Given the description of an element on the screen output the (x, y) to click on. 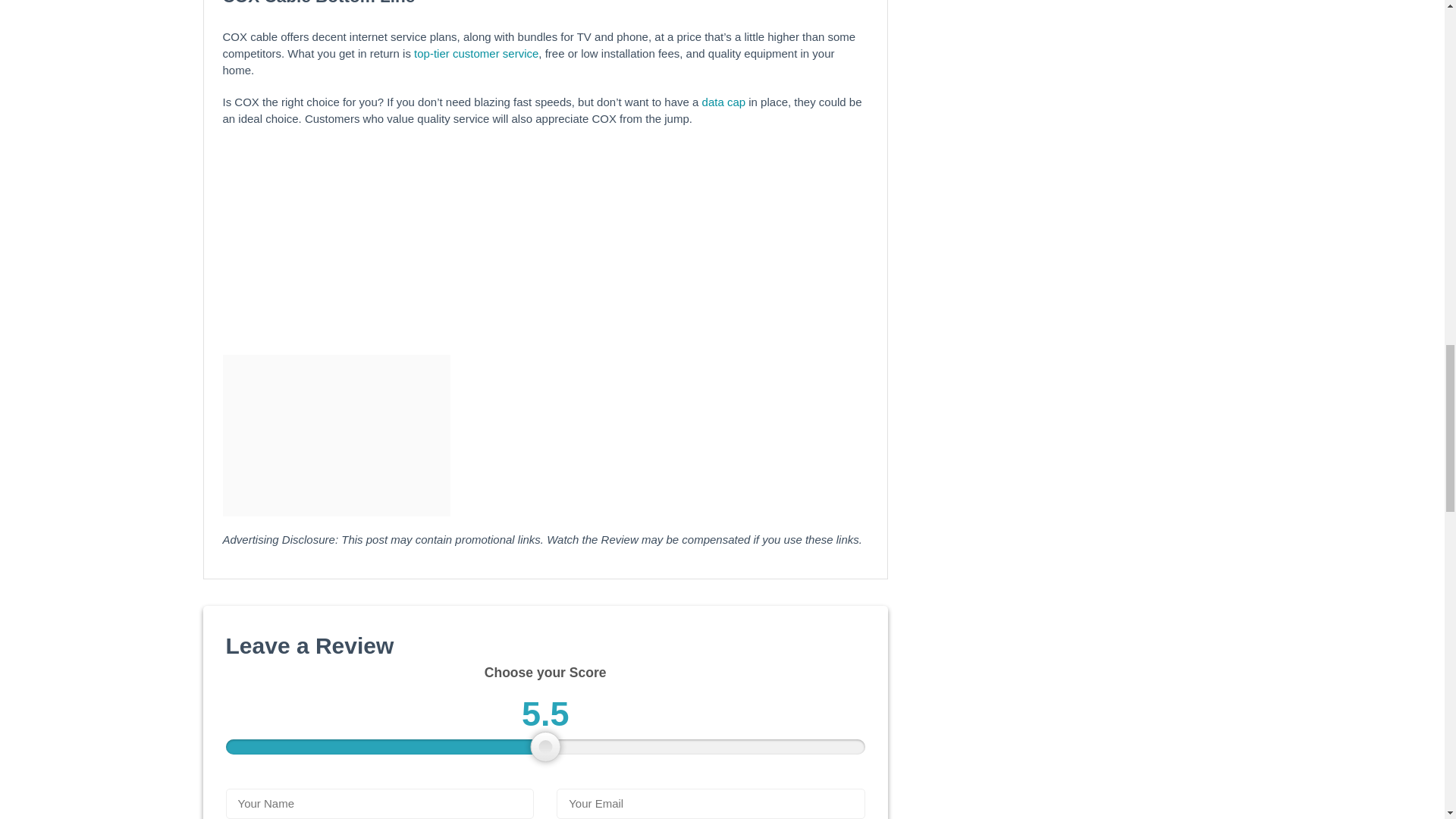
data cap (721, 101)
top-tier customer service (475, 52)
